Given the description of an element on the screen output the (x, y) to click on. 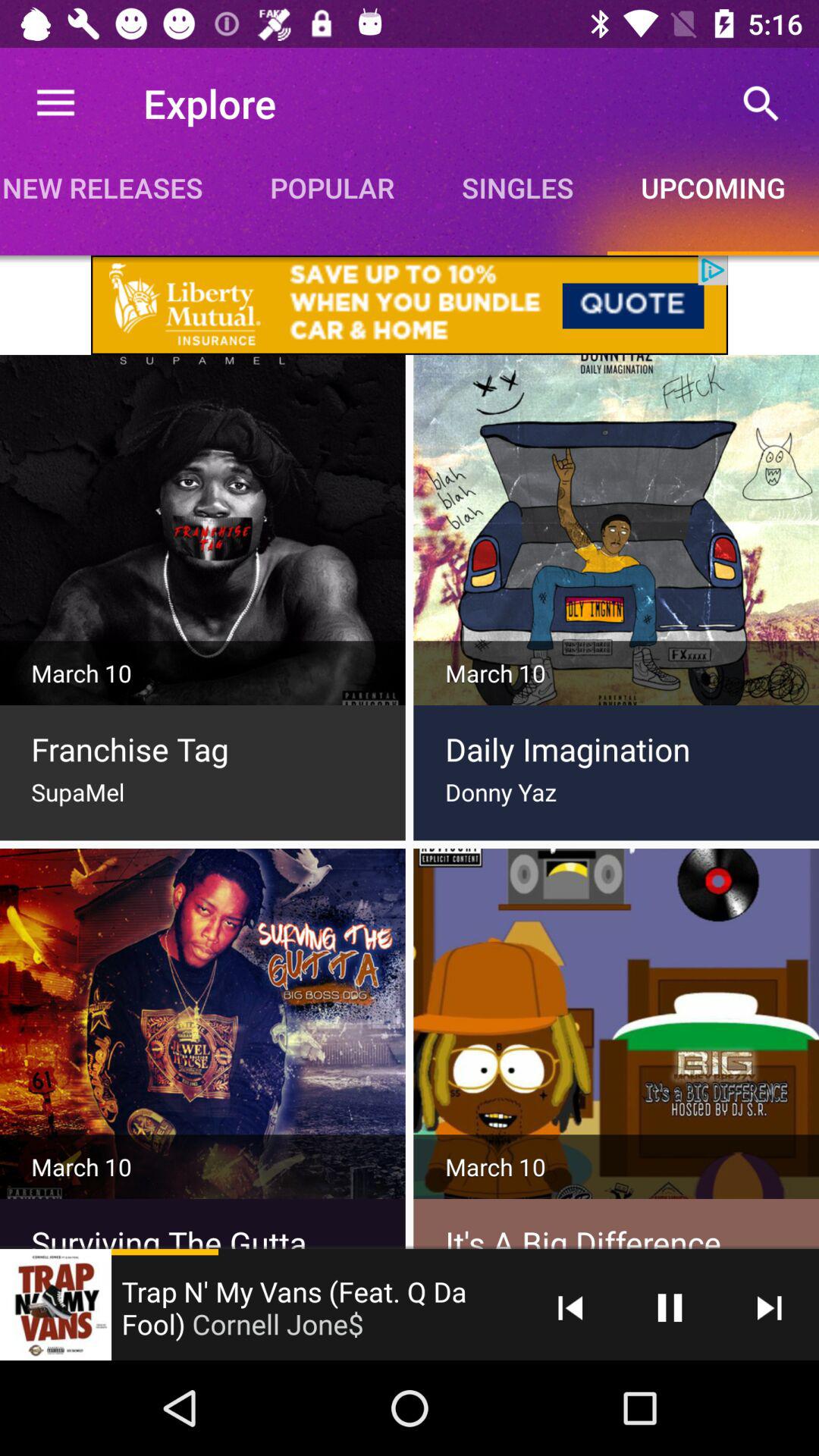
swipe to new releases app (118, 187)
